Given the description of an element on the screen output the (x, y) to click on. 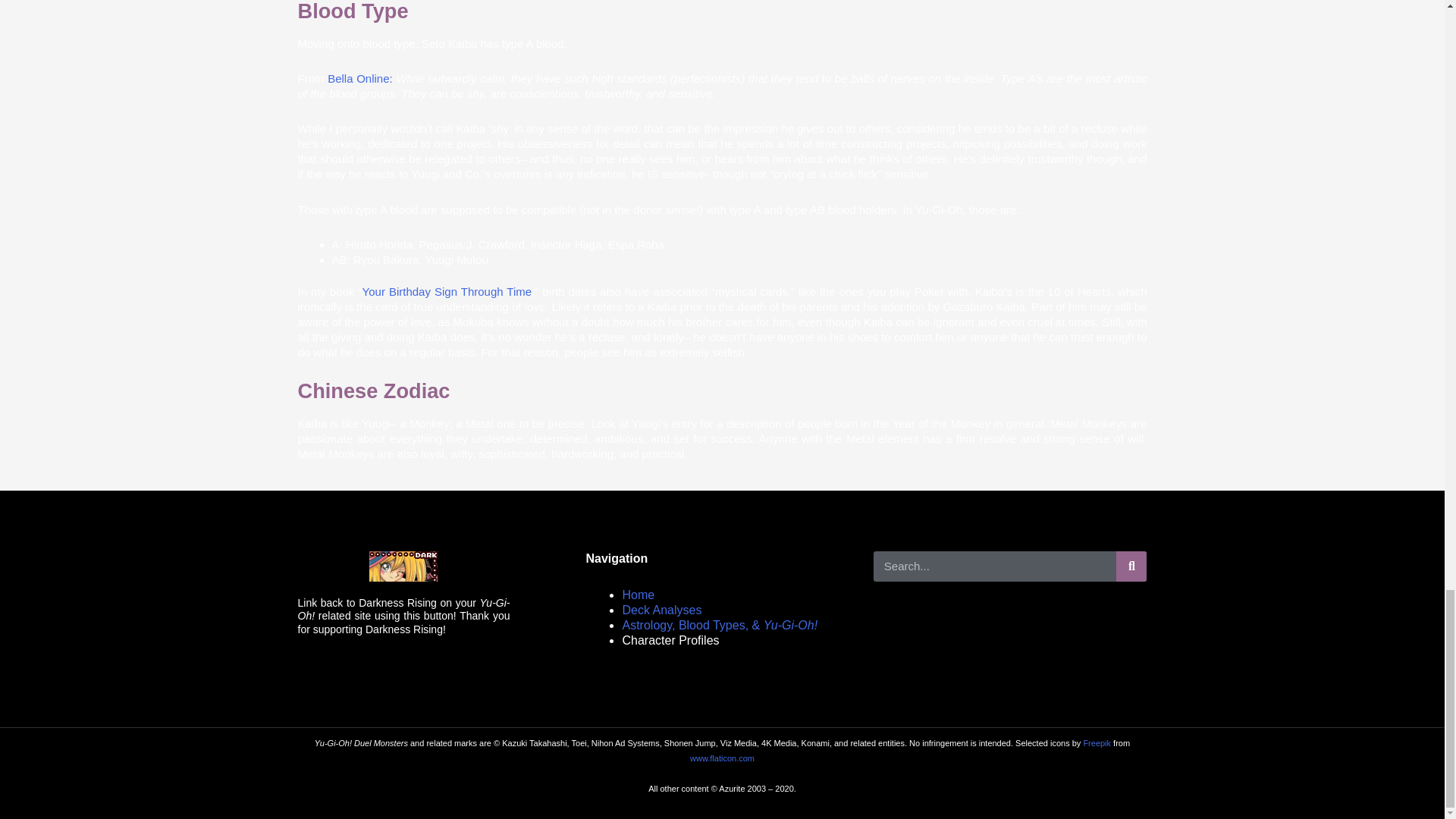
Bella Online: (360, 78)
Your Birthday Sign Through Time (447, 291)
Deck Analyses (661, 609)
Freepik (1096, 742)
Home (637, 594)
Freepik (1096, 742)
Search (1131, 566)
www.flaticon.com (722, 757)
Flaticon (722, 757)
Darkness Rising button (403, 566)
